Given the description of an element on the screen output the (x, y) to click on. 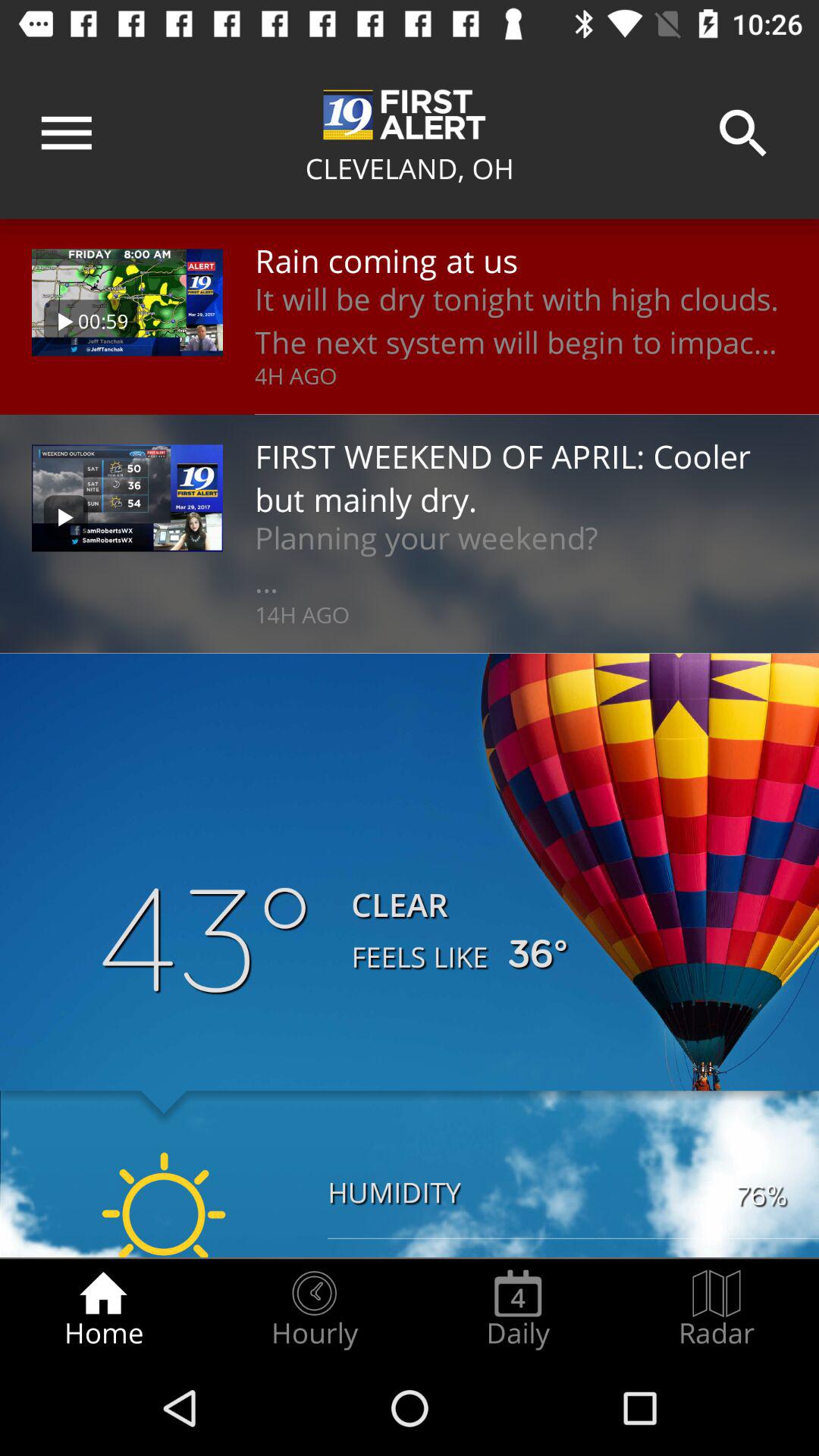
press the home item (103, 1309)
